Given the description of an element on the screen output the (x, y) to click on. 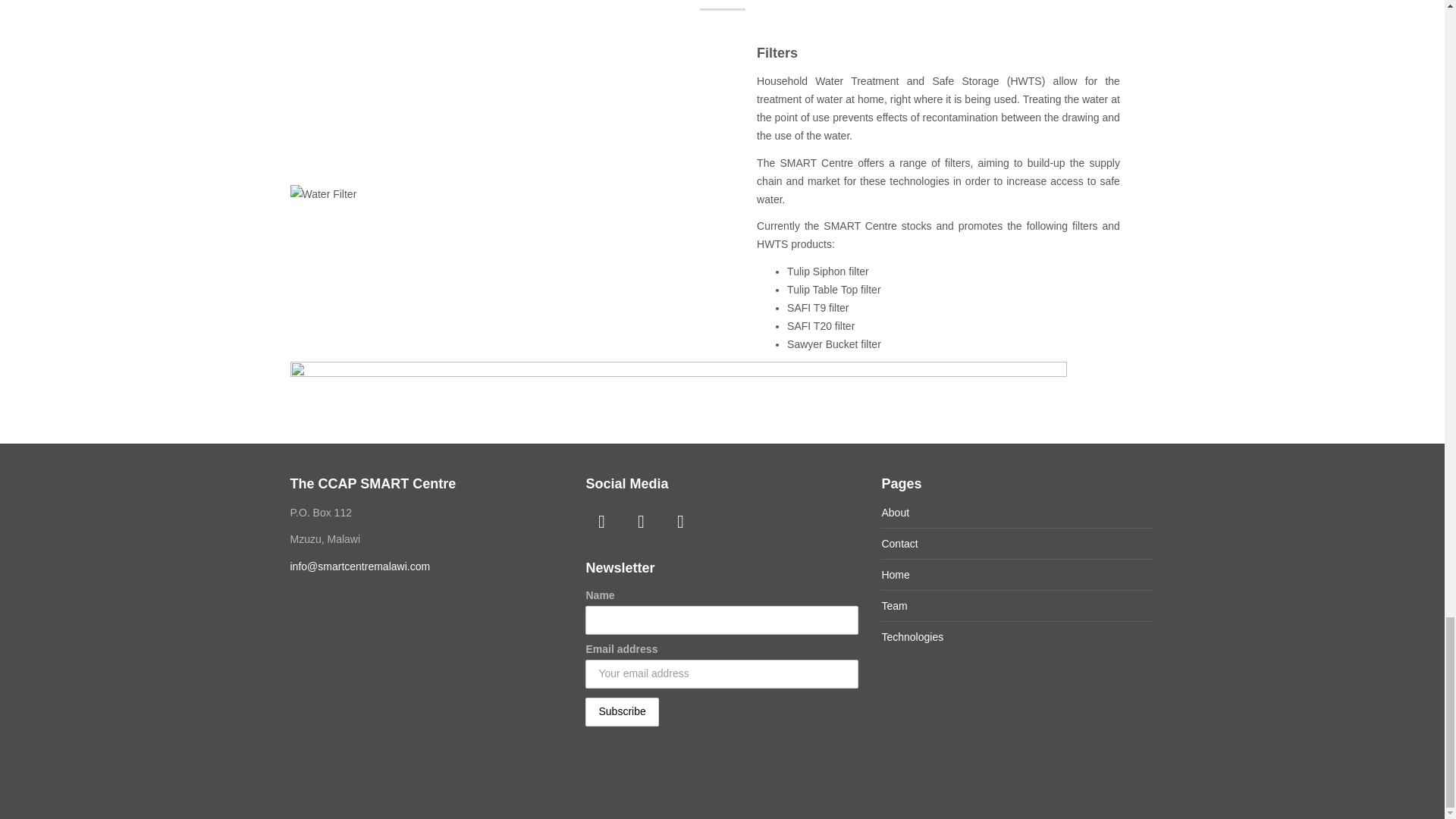
Subscribe (621, 711)
About (894, 512)
Technologies (911, 636)
Contact (898, 543)
Team (893, 605)
Subscribe (621, 711)
Home (894, 574)
